Given the description of an element on the screen output the (x, y) to click on. 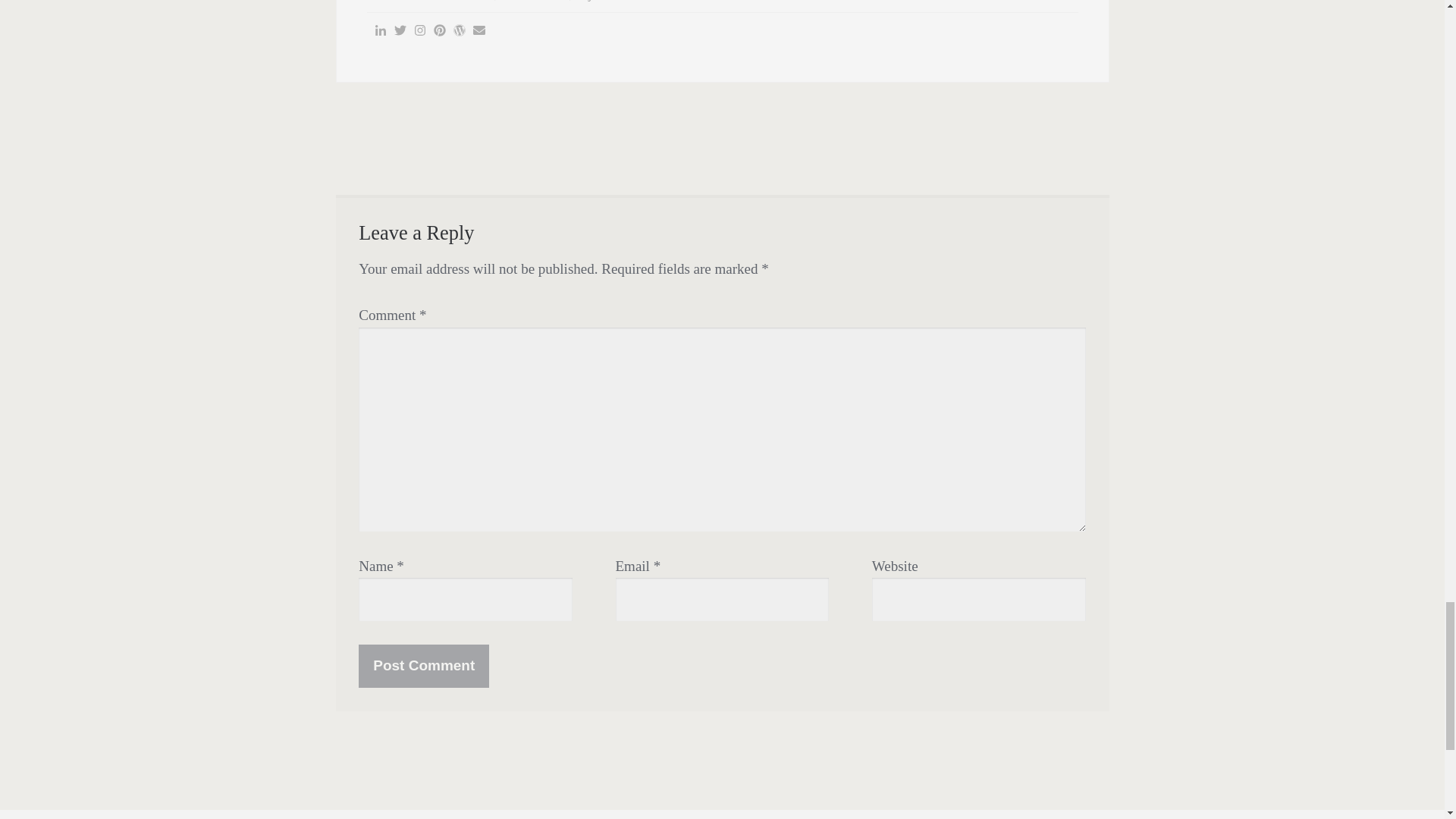
Post Comment (423, 665)
